Given the description of an element on the screen output the (x, y) to click on. 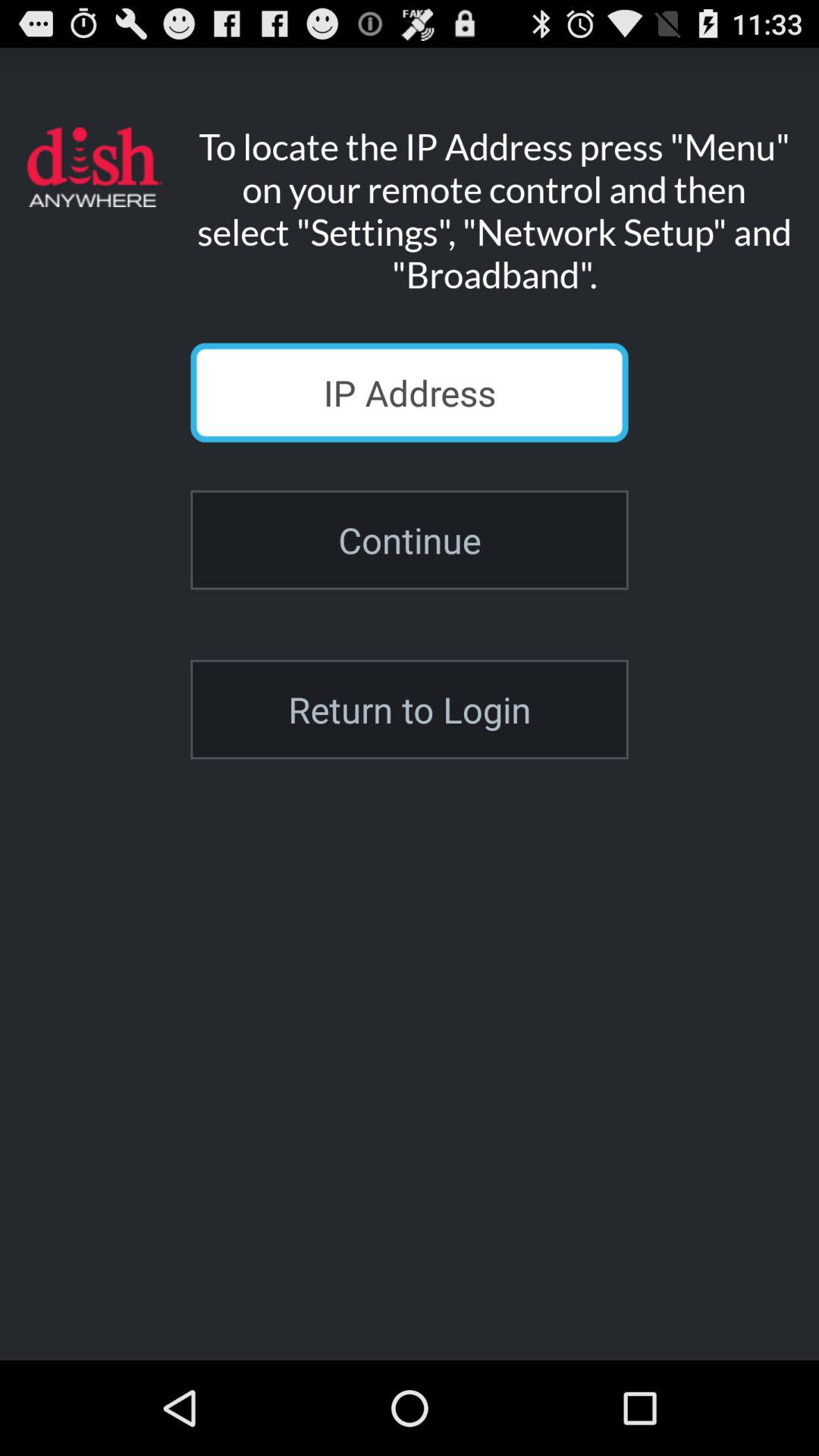
press icon above the continue icon (409, 392)
